Given the description of an element on the screen output the (x, y) to click on. 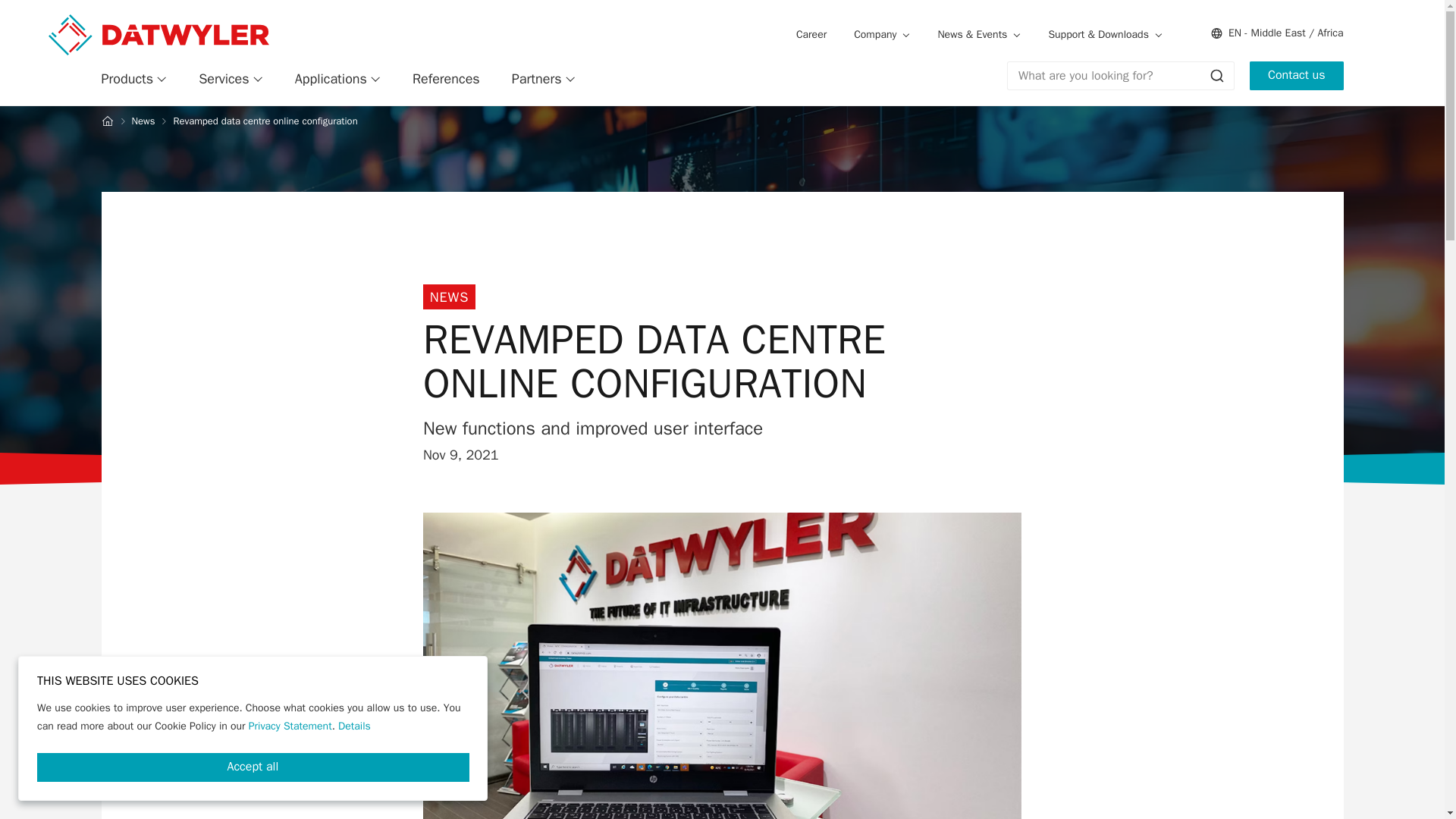
Applications (337, 78)
Products (134, 78)
Contact us (1295, 75)
Submit (1215, 75)
Services (230, 78)
